Given the description of an element on the screen output the (x, y) to click on. 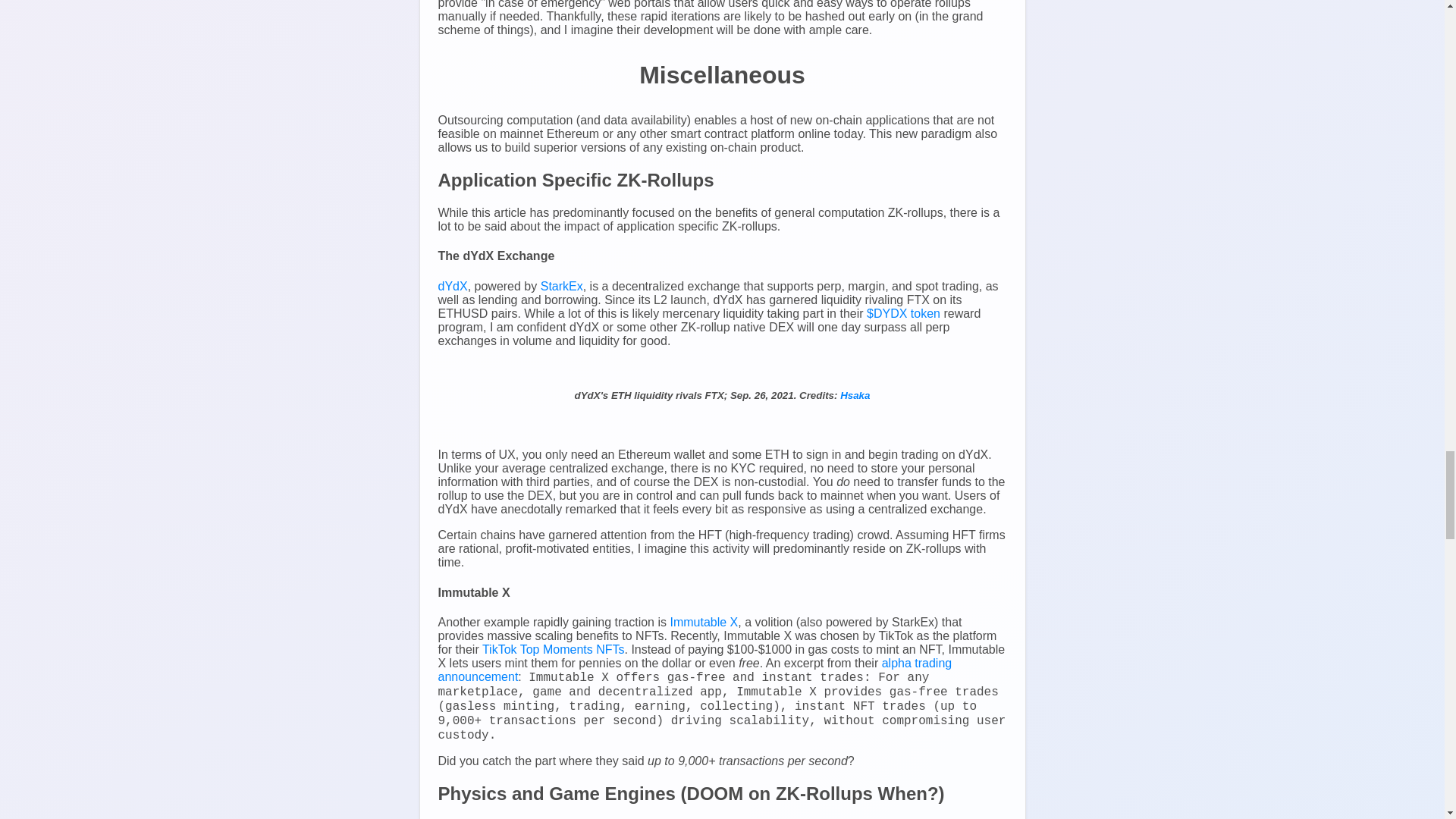
Immutable X (703, 621)
StarkEx (561, 286)
Hsaka (854, 395)
dYdX (452, 286)
TikTok Top Moments NFTs (552, 649)
